Given the description of an element on the screen output the (x, y) to click on. 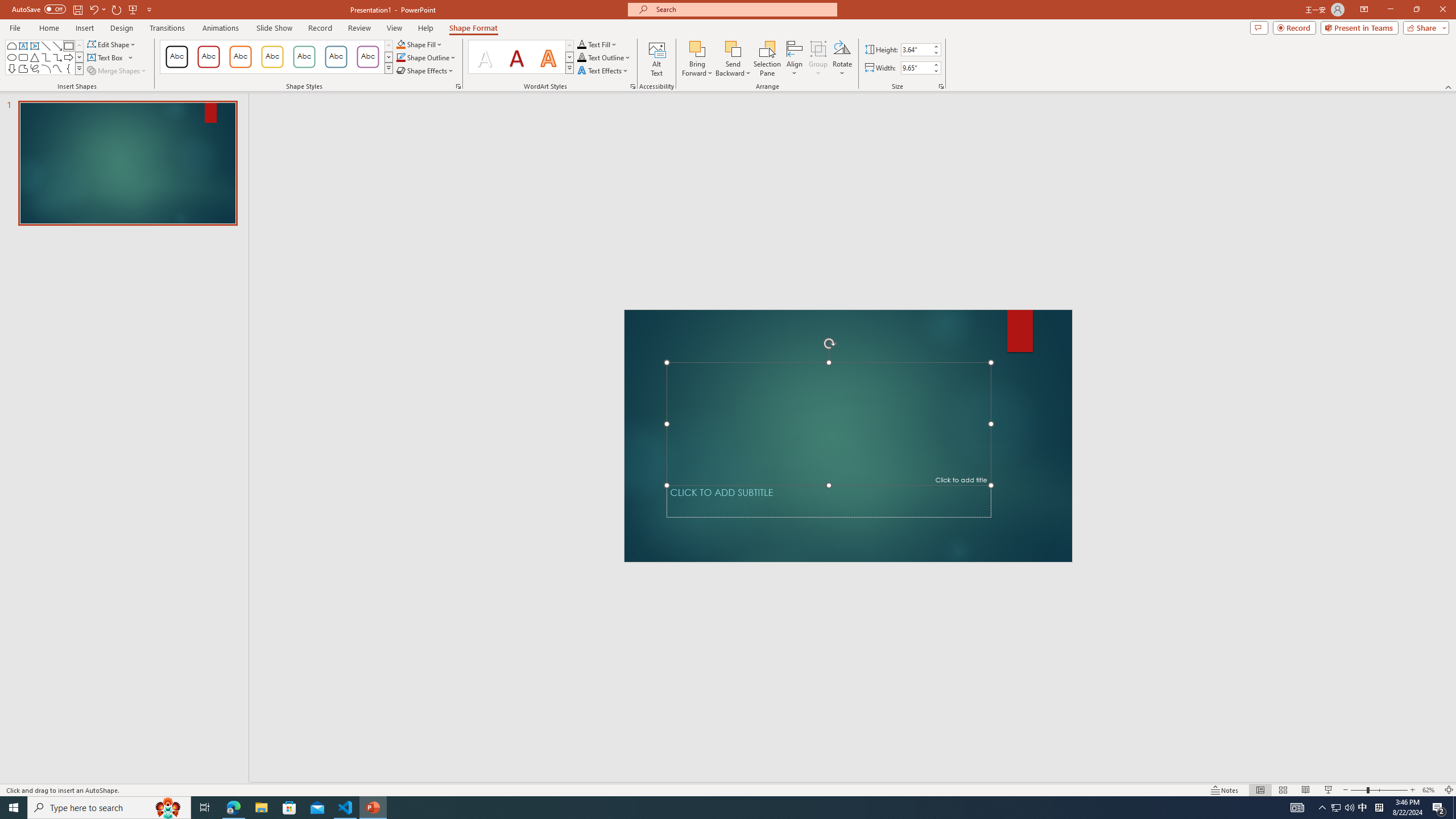
Align (794, 58)
Colored Outline - Purple, Accent 6 (368, 56)
Colored Outline - Dark Red, Accent 1 (208, 56)
Edit Shape (112, 44)
Text Outline (604, 56)
Colored Outline - Gold, Accent 3 (272, 56)
